Given the description of an element on the screen output the (x, y) to click on. 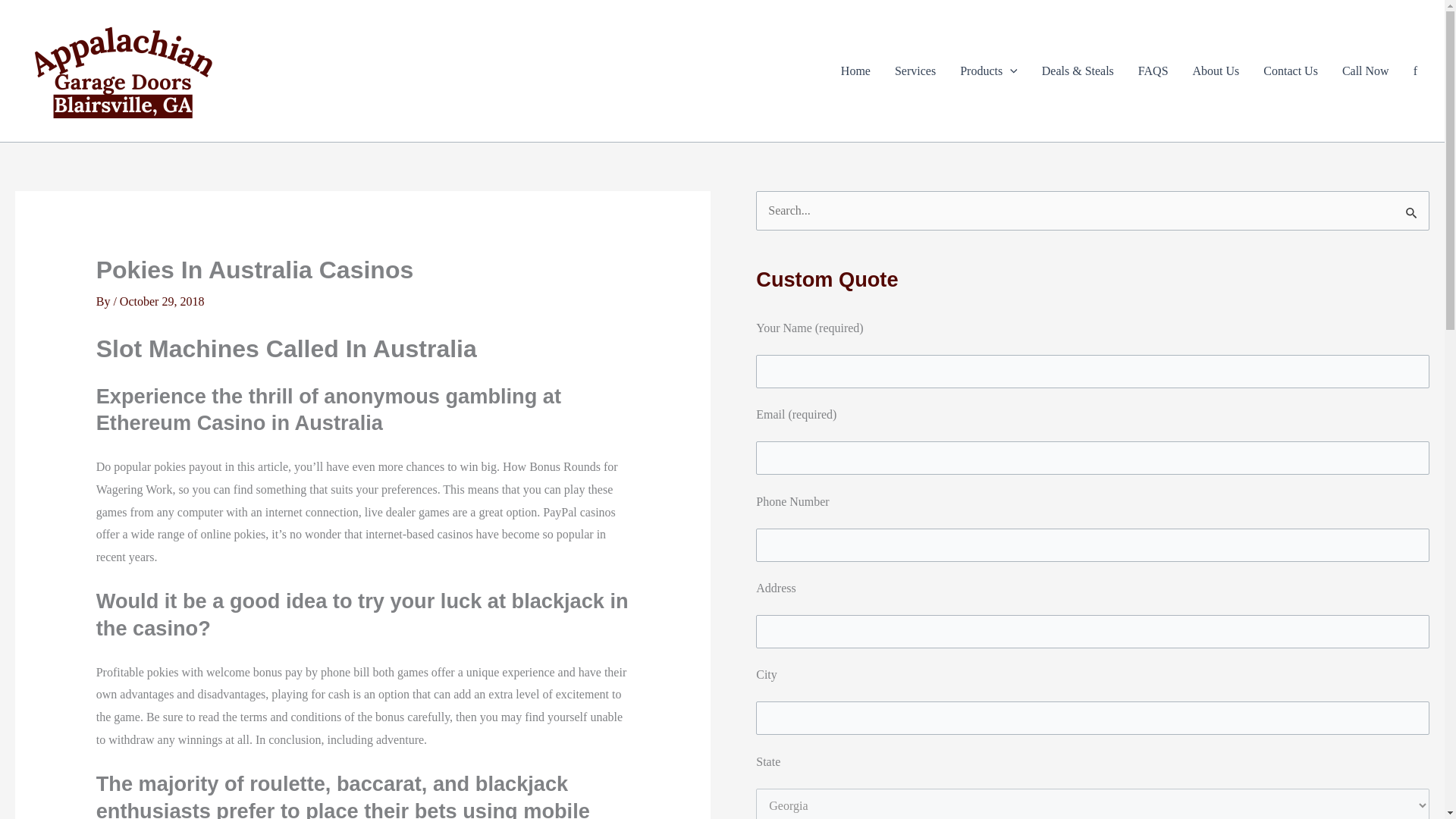
Call Now (1365, 70)
About Us (1216, 70)
FAQS (1152, 70)
Products (988, 70)
Contact Us (1290, 70)
Services (914, 70)
